Given the description of an element on the screen output the (x, y) to click on. 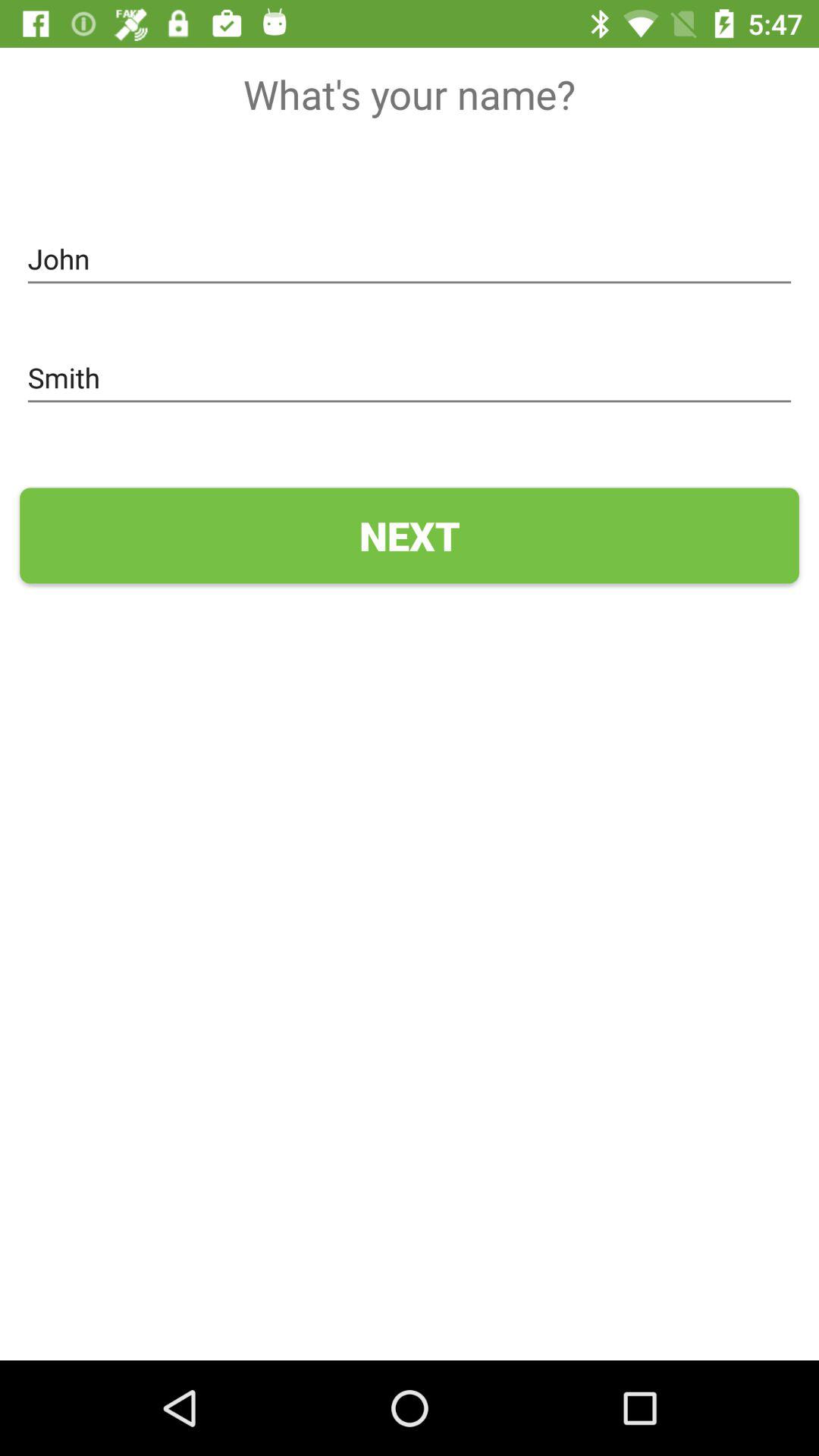
choose the item below the john icon (409, 378)
